Given the description of an element on the screen output the (x, y) to click on. 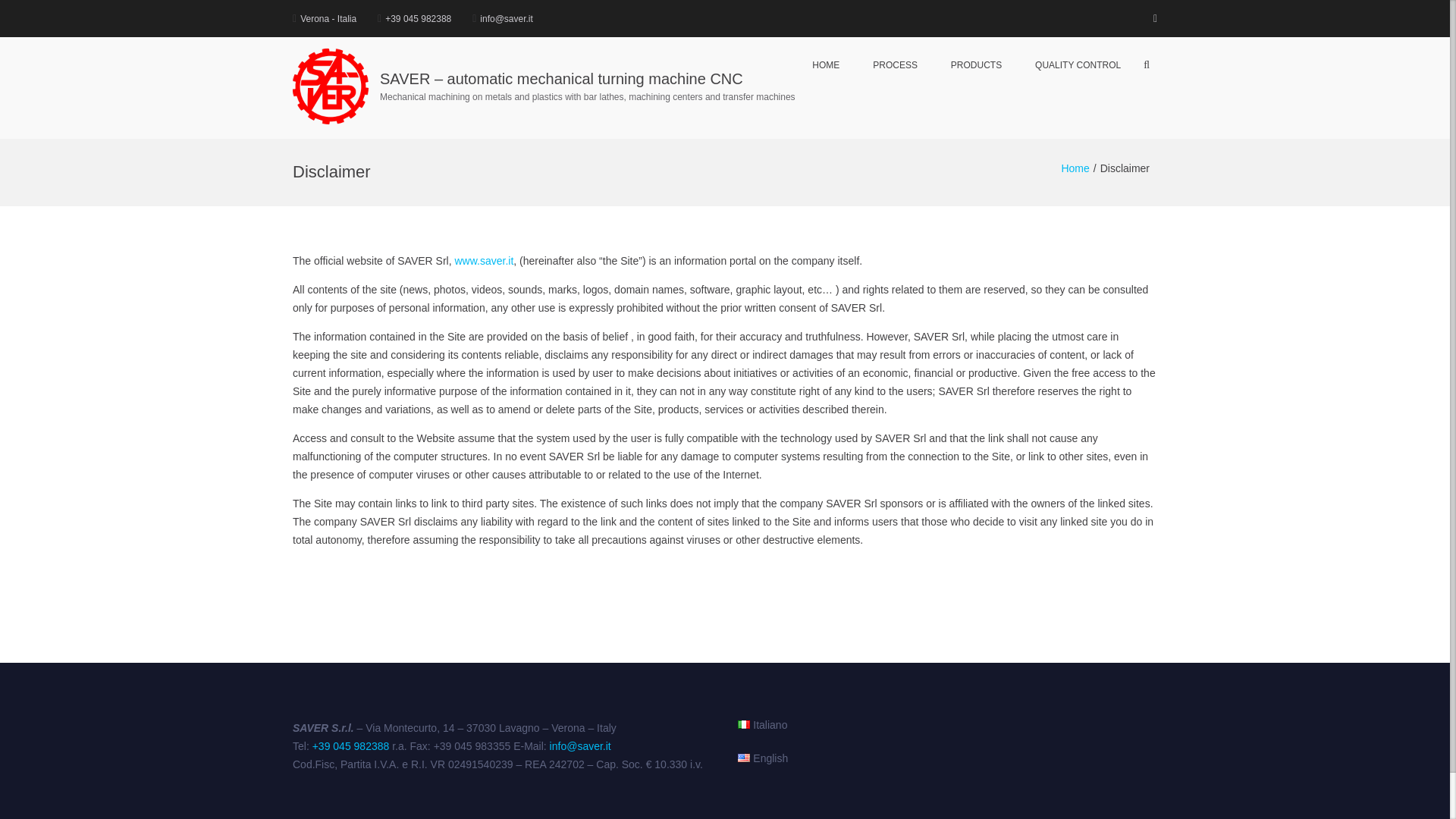
www.saver.it (483, 260)
QUALITY CONTROL (1077, 65)
Home (1075, 168)
Home (1075, 168)
HOME (825, 65)
Search (1107, 146)
English (762, 758)
PROCESS (895, 65)
Italiano (762, 724)
PRODUCTS (976, 65)
